Given the description of an element on the screen output the (x, y) to click on. 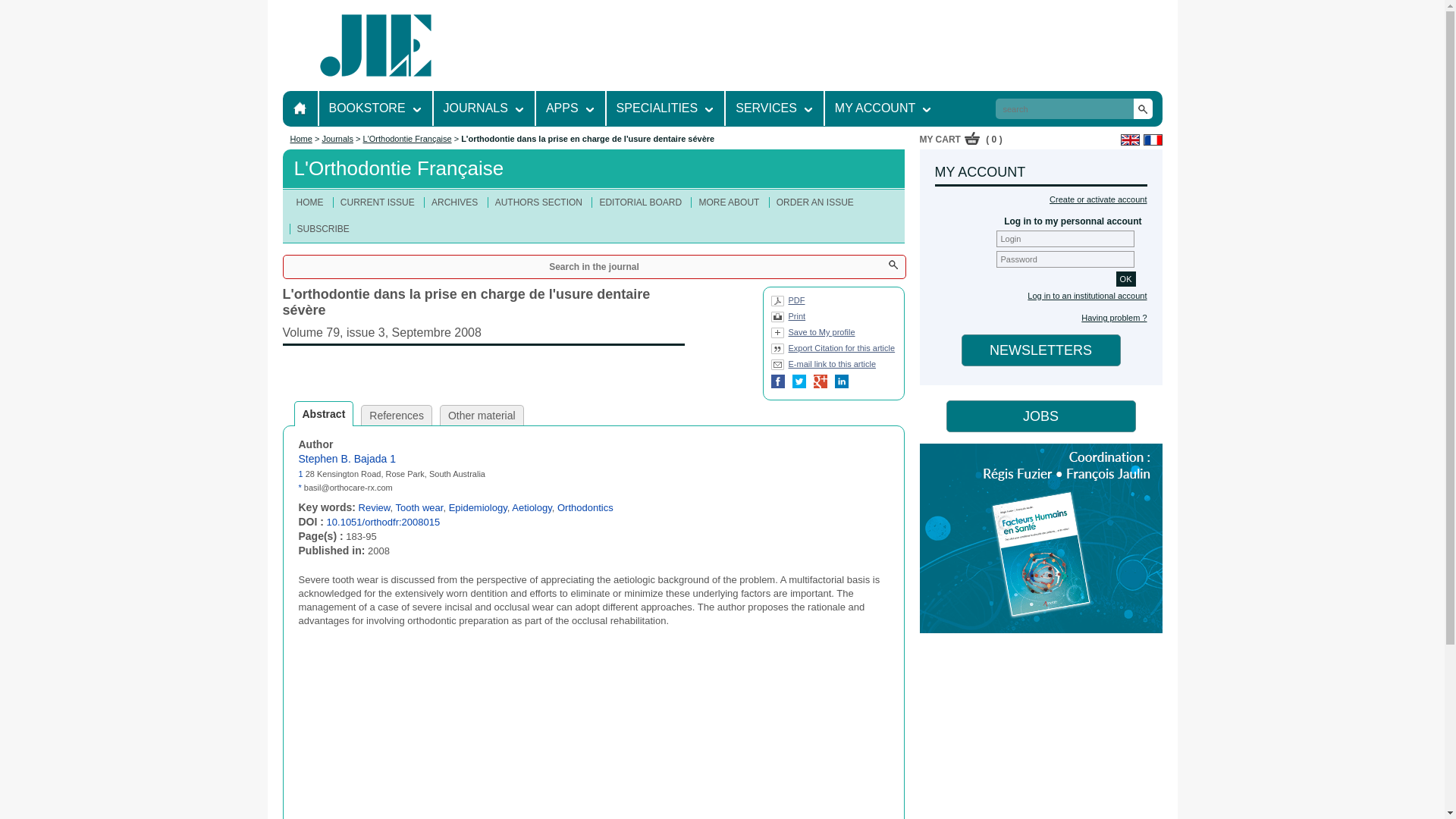
Imprimer l'article (787, 319)
JOURNALS (476, 108)
OK (1125, 278)
English version (1130, 139)
Version PDF : article dans le format PDF (787, 303)
HOME (299, 108)
Voir le sommaire de cette parution (483, 328)
BOOKSTORE (367, 108)
Citer cet article (832, 350)
